Given the description of an element on the screen output the (x, y) to click on. 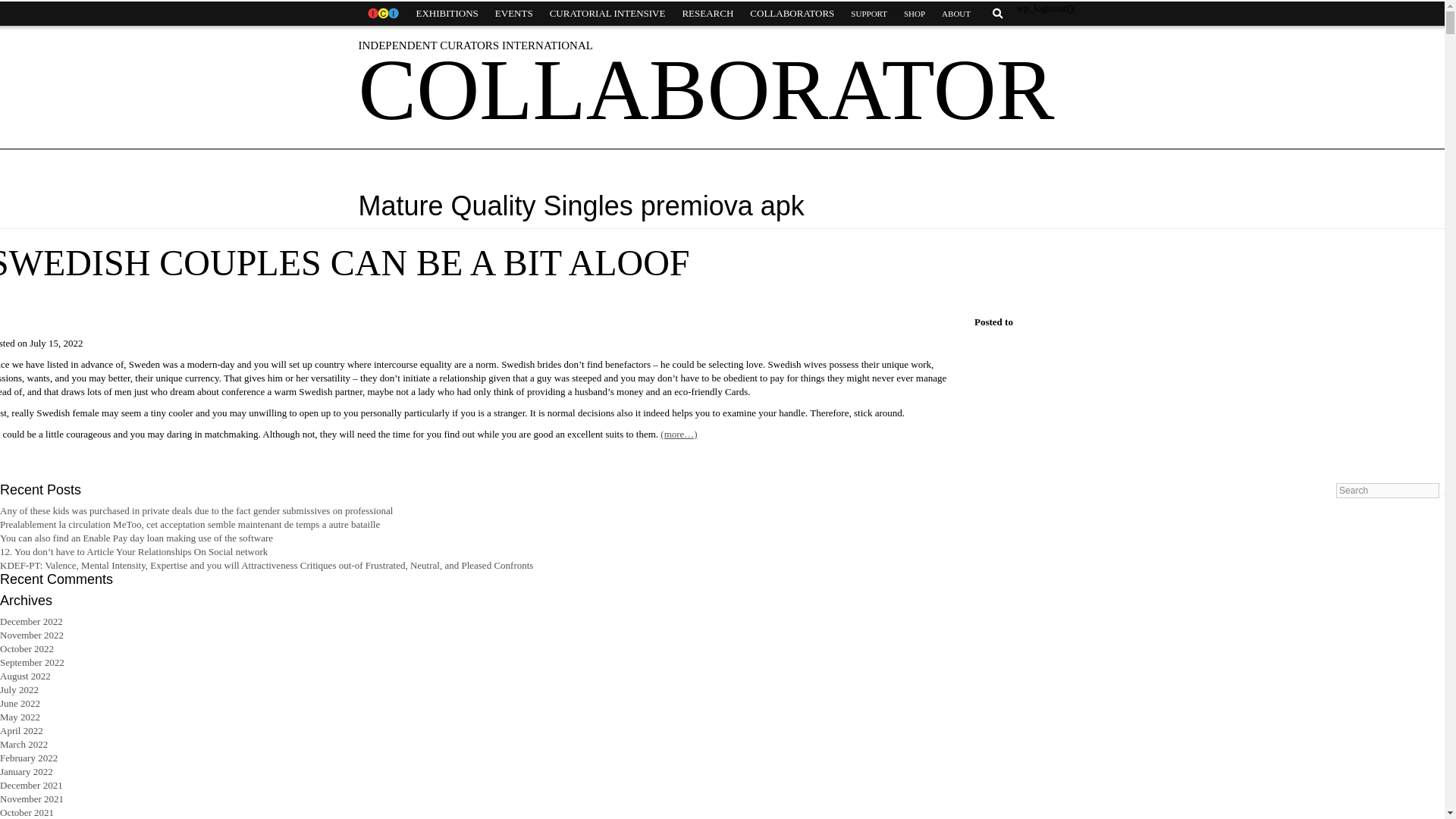
EXHIBITIONS (446, 13)
HOME (382, 13)
CURATORIAL INTENSIVE (607, 13)
COLLABORATORS (792, 13)
EVENTS (513, 13)
RESEARCH (706, 13)
